Given the description of an element on the screen output the (x, y) to click on. 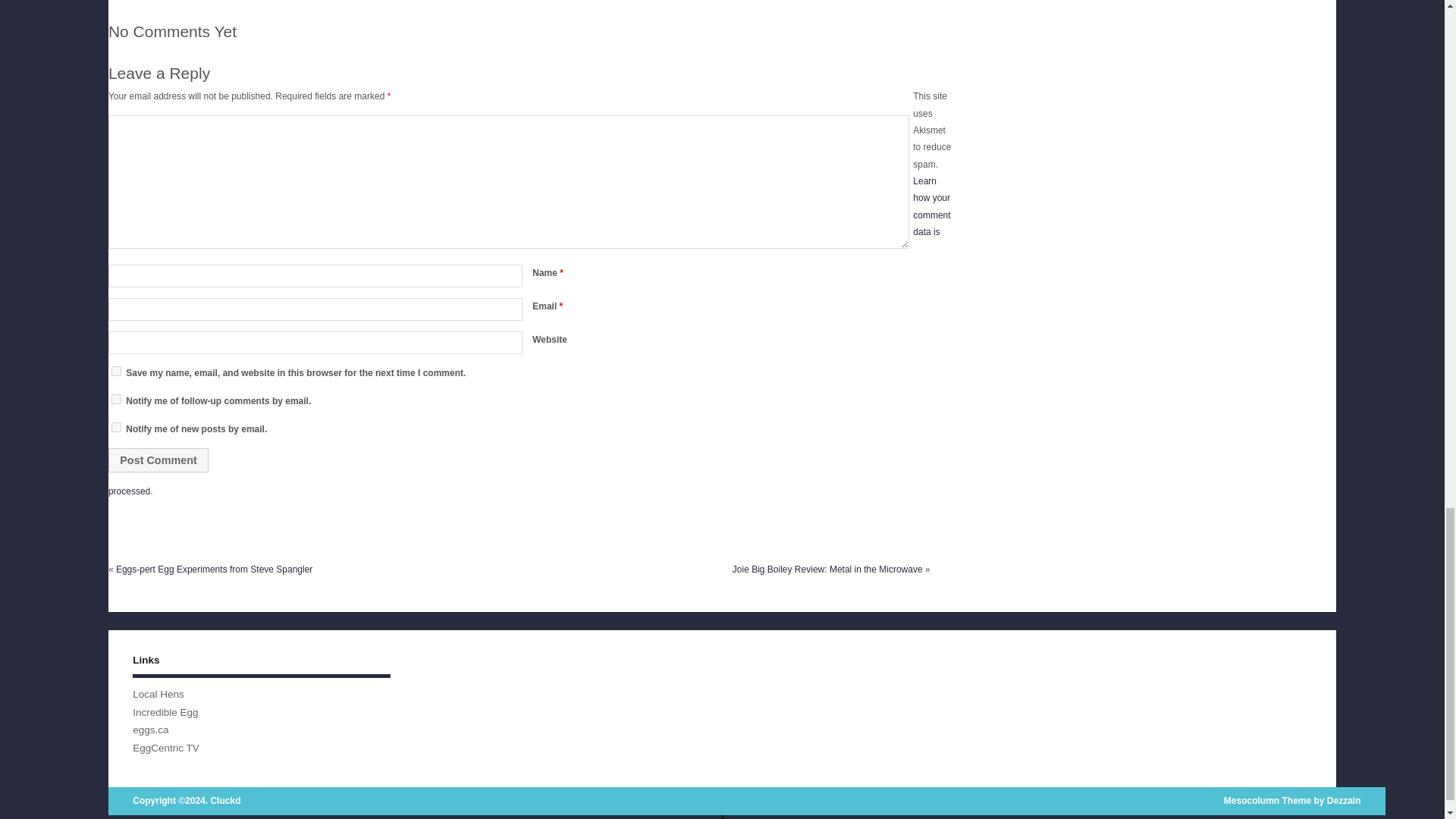
Incredible Egg (165, 711)
subscribe (116, 427)
EggCentric TV (165, 747)
Post Comment (157, 459)
eggs.ca (150, 729)
Joie Big Boiley Review: Metal in the Microwave (827, 569)
Eggs-pert Egg Experiments from Steve Spangler (214, 569)
subscribe (116, 398)
Post Comment (157, 459)
Local Hens (158, 694)
yes (116, 370)
